Given the description of an element on the screen output the (x, y) to click on. 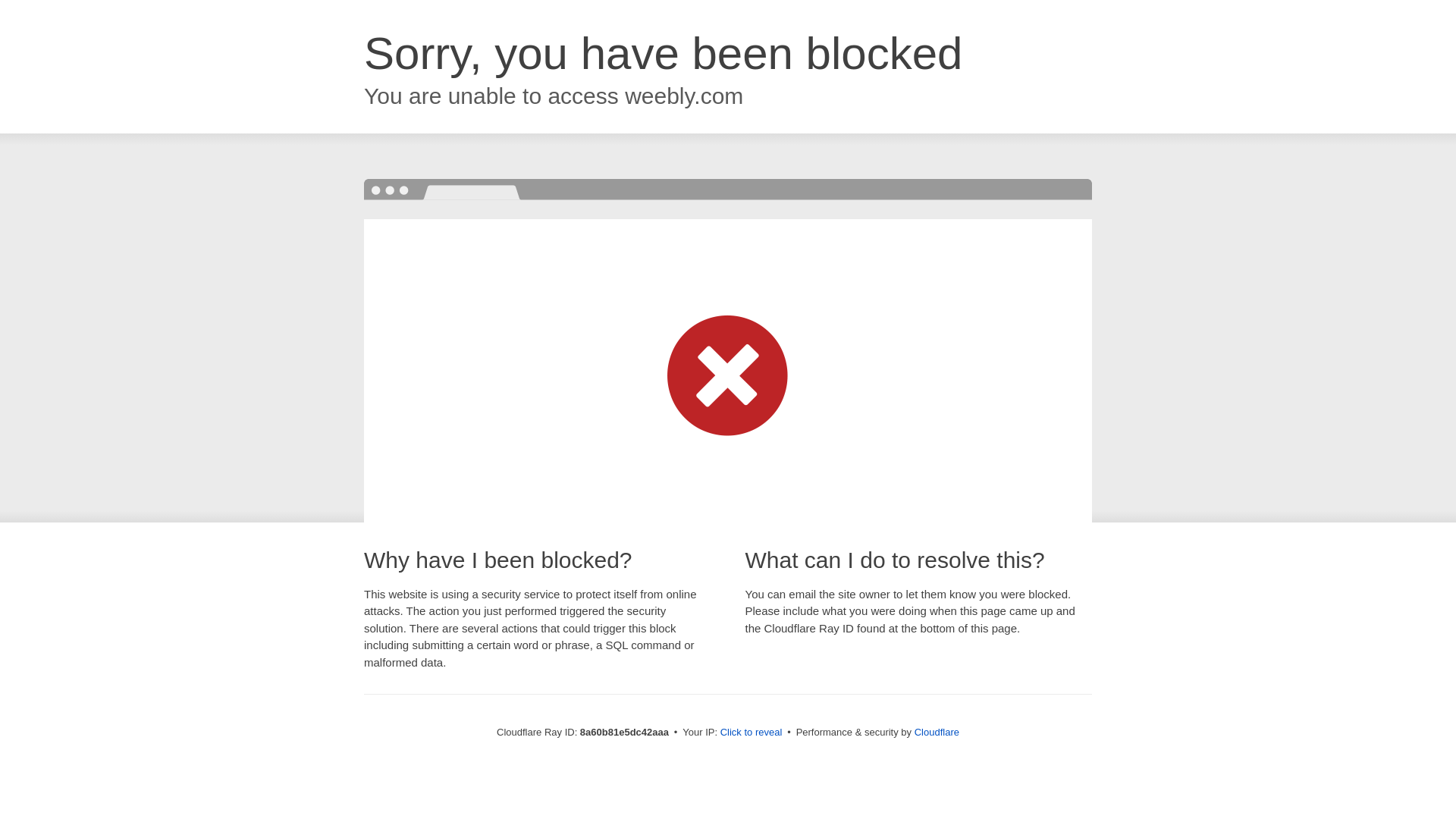
Cloudflare (936, 731)
Click to reveal (751, 732)
